Given the description of an element on the screen output the (x, y) to click on. 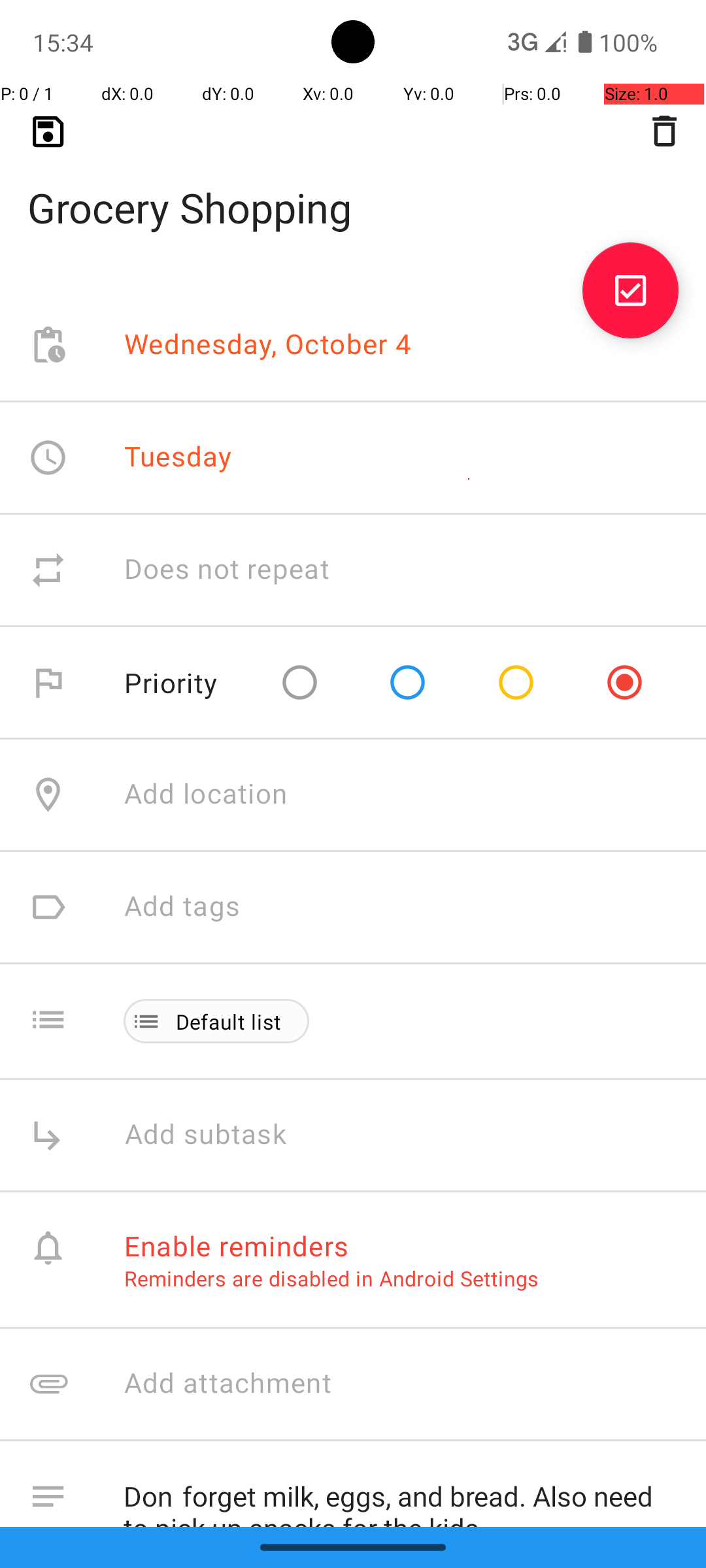
Grocery Shopping Element type: android.widget.EditText (353, 186)
Don	 forget milk, eggs, and bread. Also need to pick up snacks for the kids. Element type: android.widget.EditText (400, 1493)
Wednesday, October 4 Element type: android.widget.TextView (267, 344)
Add attachment Element type: android.widget.TextView (414, 1383)
